Given the description of an element on the screen output the (x, y) to click on. 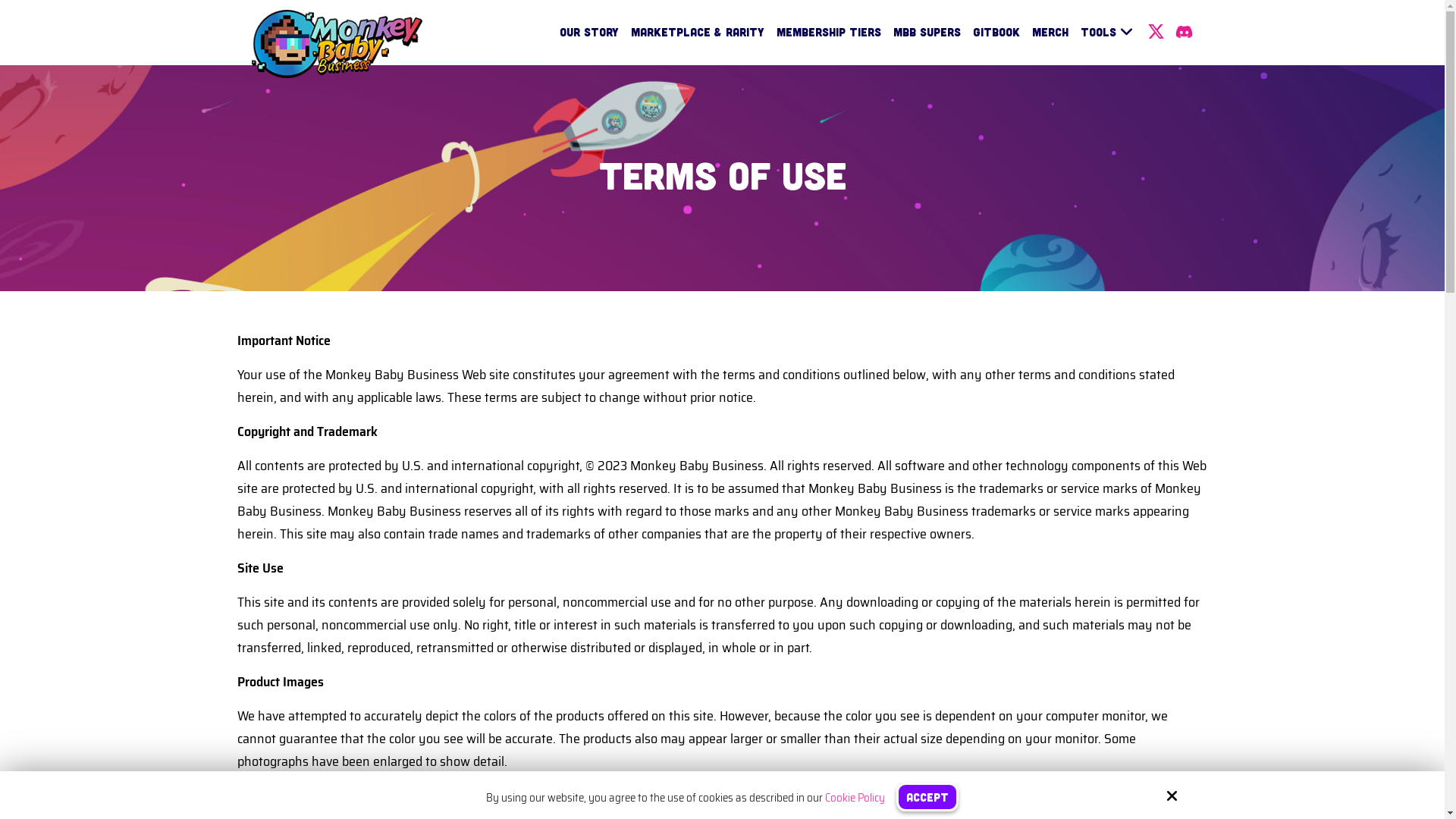
MARKETPLACE & RARITY Element type: text (697, 31)
ACCEPT Element type: text (927, 796)
GITBOOK Element type: text (996, 31)
MERCH Element type: text (1050, 31)
OUR STORY Element type: text (588, 31)
TOOLS Element type: text (1106, 32)
Cookie Policy Element type: text (854, 797)
MEMBERSHIP TIERS Element type: text (828, 31)
MBB SUPERS Element type: text (926, 31)
